Given the description of an element on the screen output the (x, y) to click on. 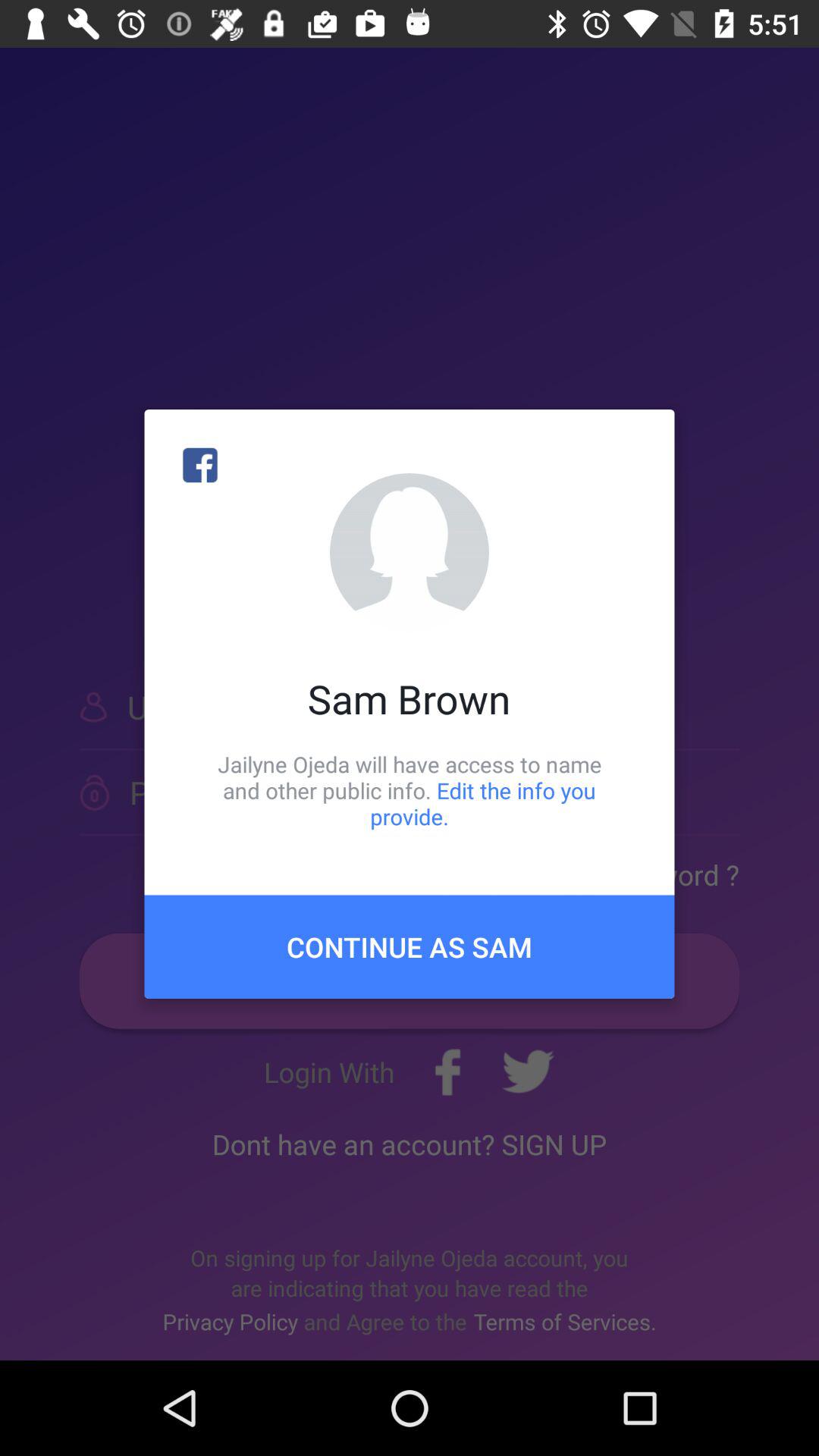
choose the jailyne ojeda will icon (409, 790)
